Given the description of an element on the screen output the (x, y) to click on. 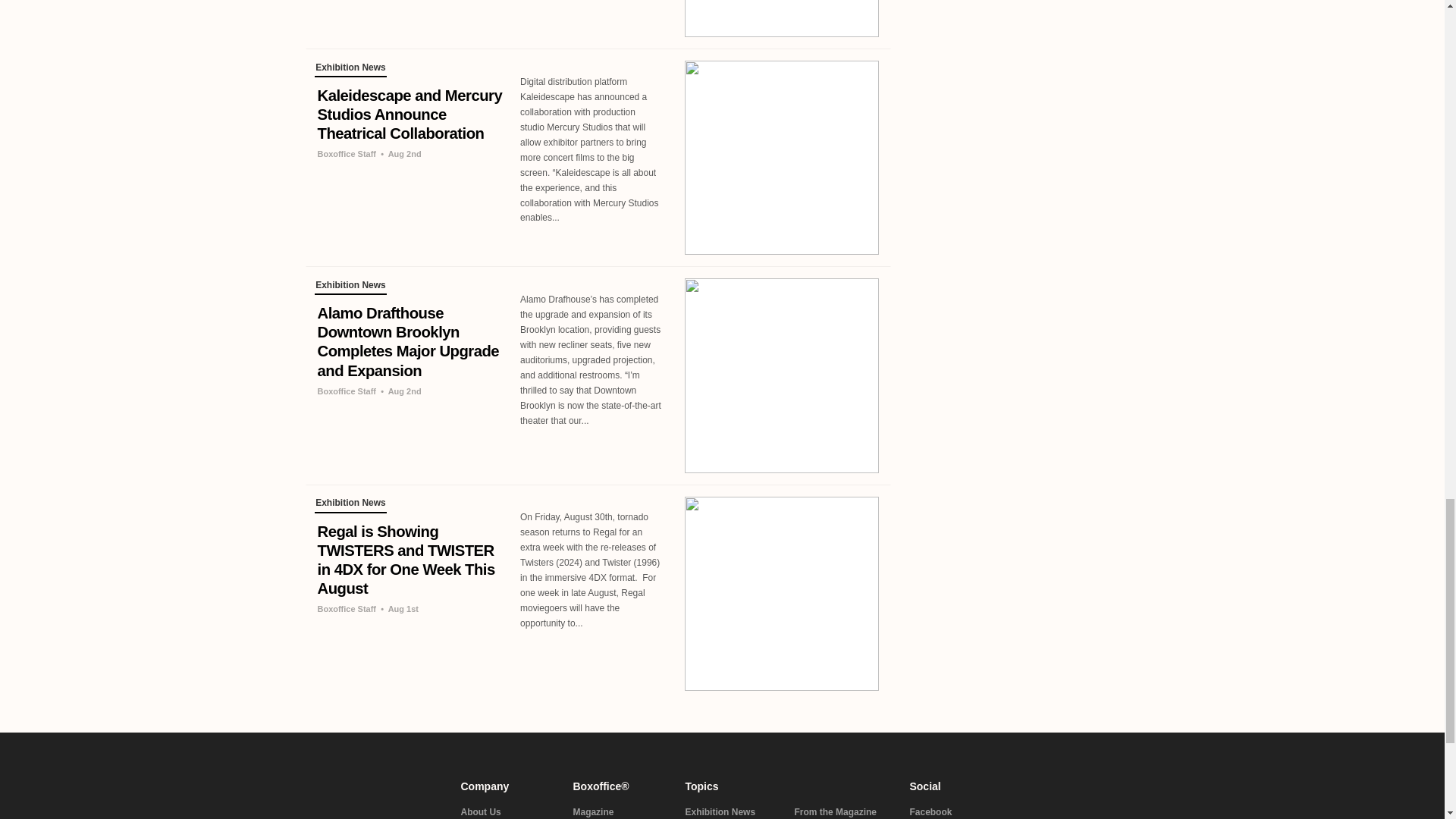
Topics (788, 786)
Exhibition News (349, 69)
Company (508, 786)
Exhibition News (349, 287)
About Us (508, 812)
Magazine (620, 812)
Exhibition News (349, 504)
